Given the description of an element on the screen output the (x, y) to click on. 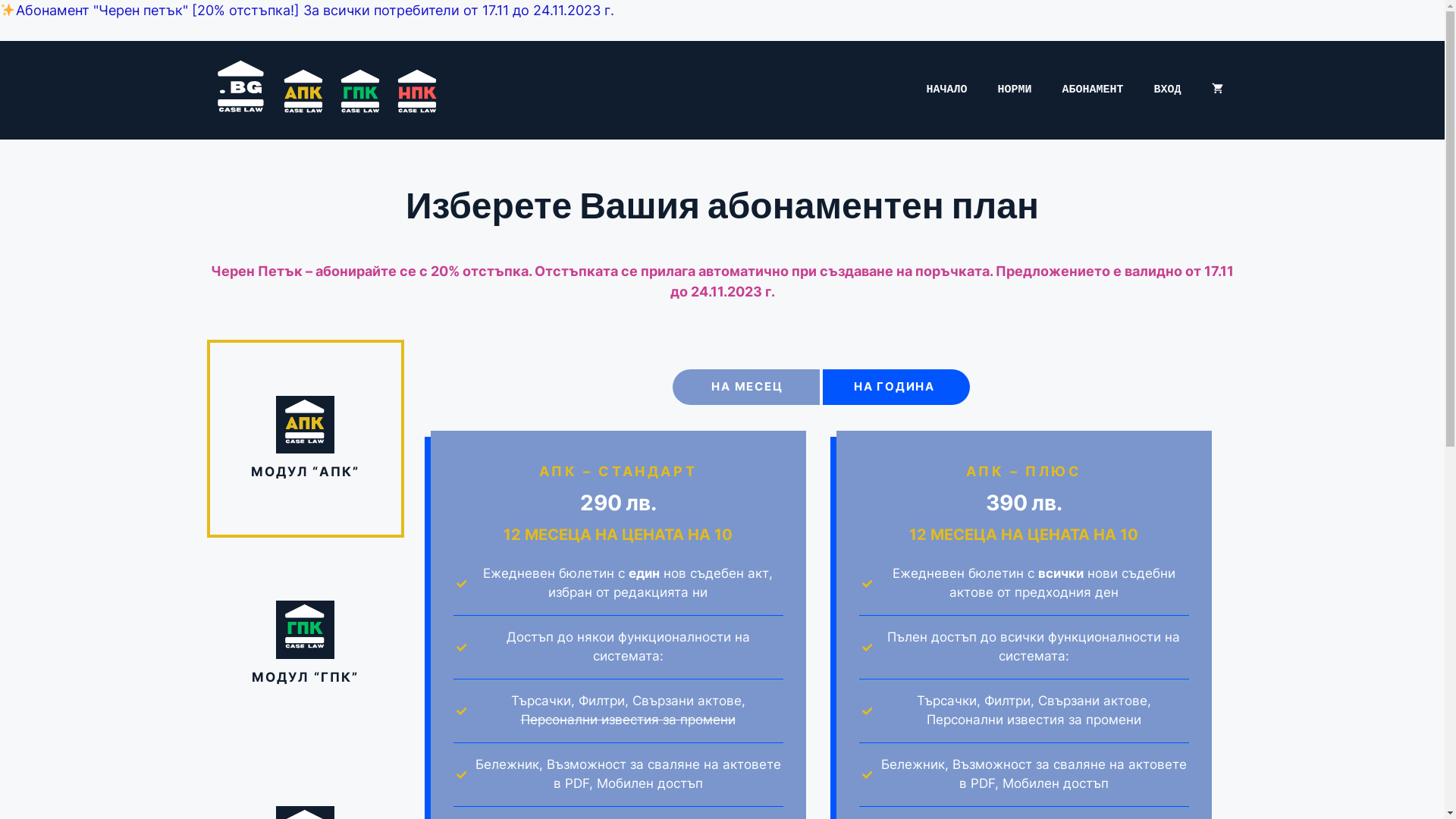
View your shopping cart Element type: hover (1217, 90)
